Given the description of an element on the screen output the (x, y) to click on. 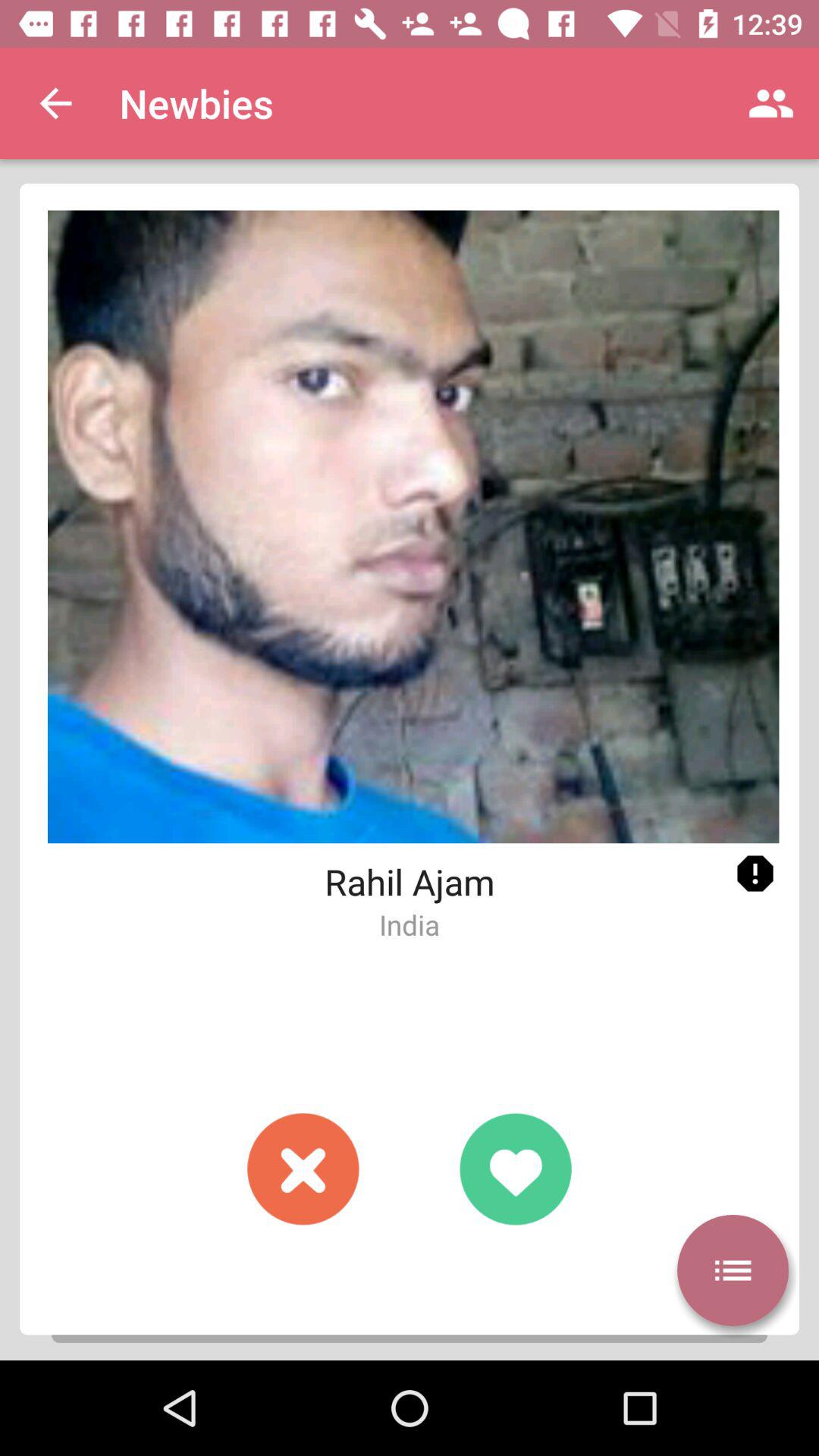
like this profile (515, 1169)
